Given the description of an element on the screen output the (x, y) to click on. 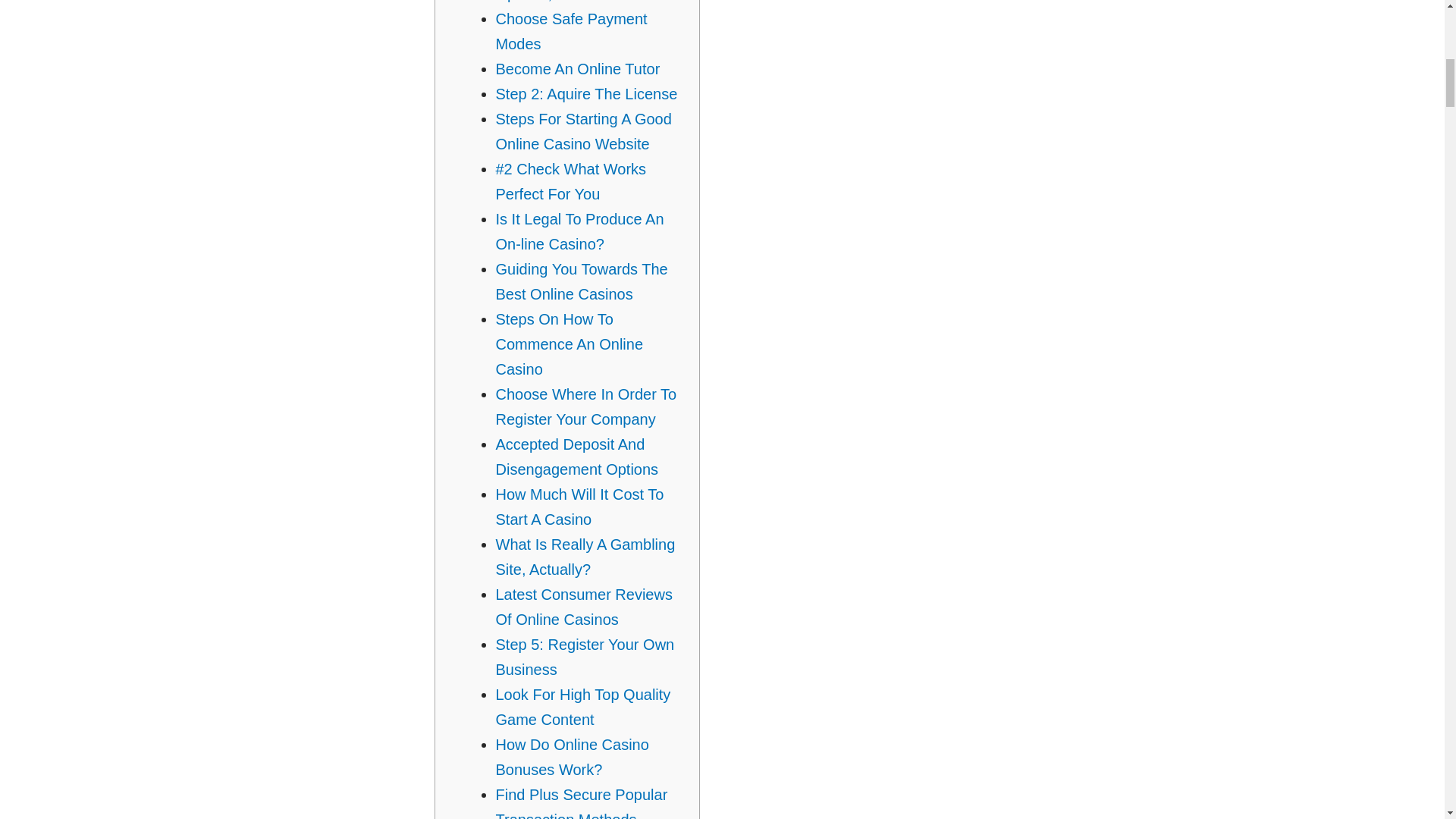
Is It Legal To Produce An On-line Casino? (579, 231)
Choose Where In Order To Register Your Company (586, 406)
Choose Safe Payment Modes (571, 31)
Latest Consumer Reviews Of Online Casinos (584, 607)
Step 5: Register Your Own Business (585, 657)
Deposit And Drawback Options, Fees (572, 1)
Guiding You Towards The Best Online Casinos (582, 281)
Step 2: Aquire The License (587, 93)
Look For High Top Quality Game Content (583, 707)
What Is Really A Gambling Site, Actually? (585, 557)
